Given the description of an element on the screen output the (x, y) to click on. 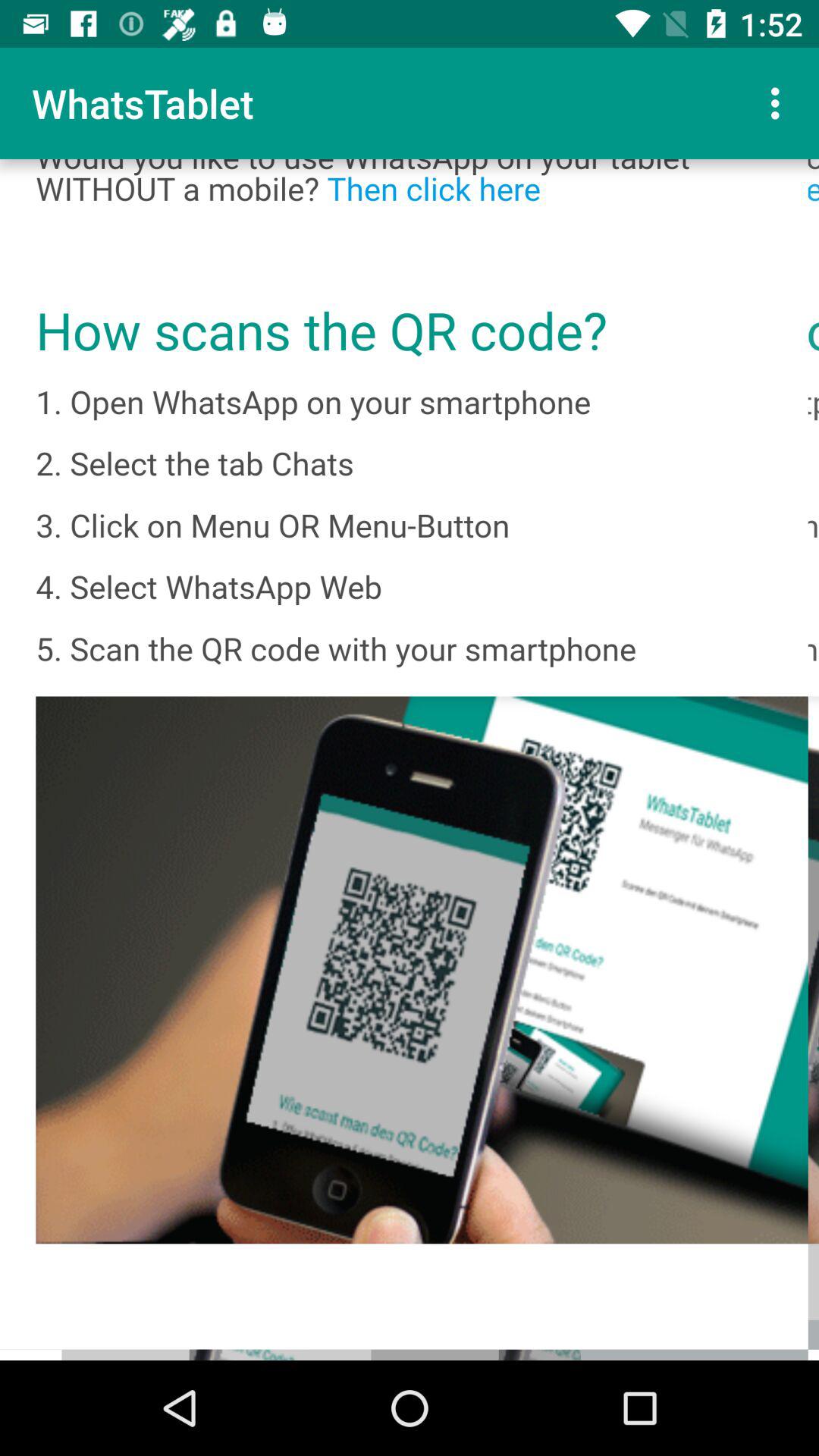
tap the item next to the whatstablet (779, 103)
